Given the description of an element on the screen output the (x, y) to click on. 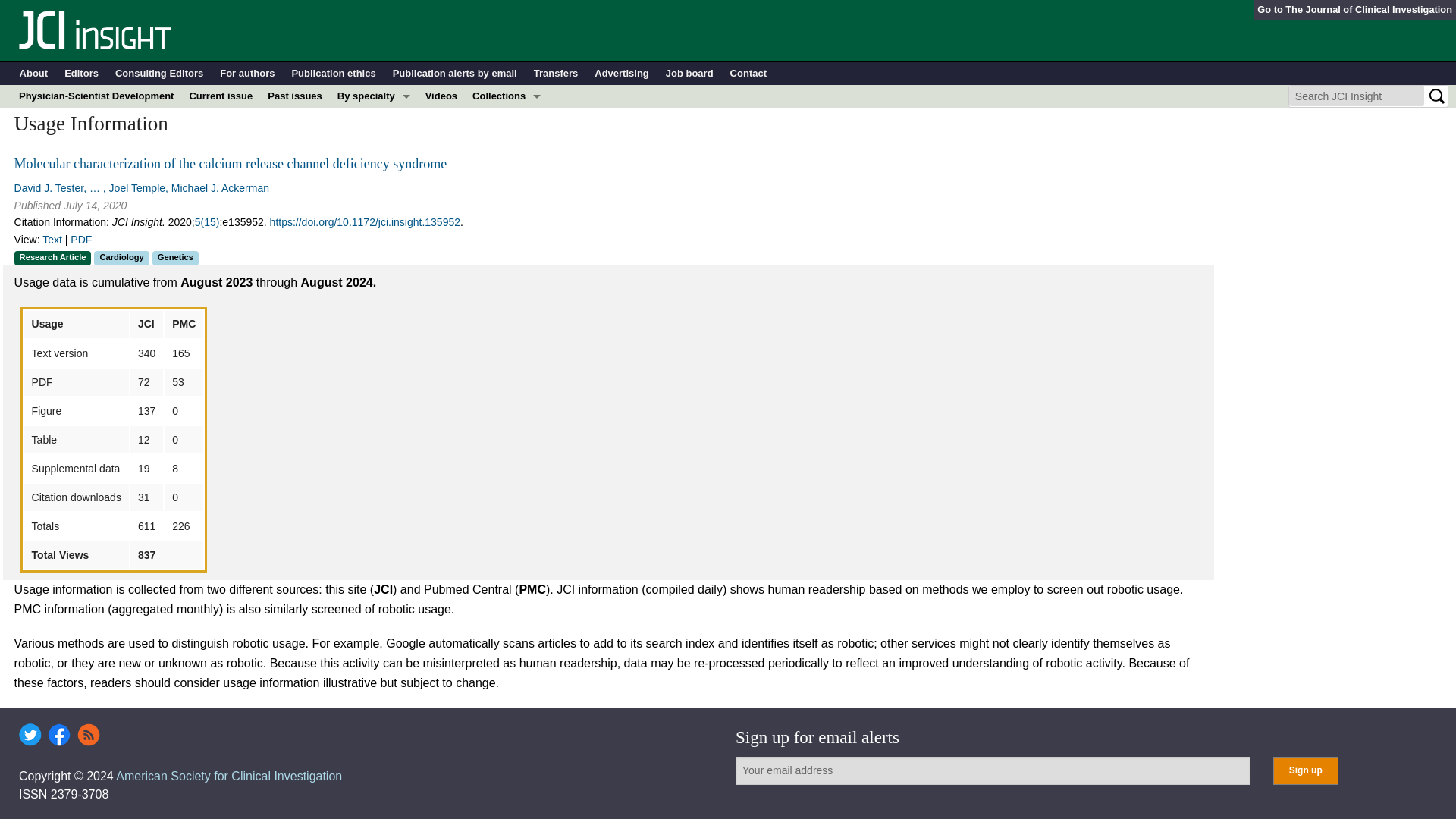
Twitter (30, 734)
The Journal of Clinical Investigation (1368, 9)
Metabolism (373, 187)
Clinical Medicine (506, 164)
Publication alerts by email (454, 73)
Cardiology (373, 141)
Perspectives (506, 210)
Sign up (1305, 770)
Pulmonology (373, 255)
Transfers (556, 73)
